Given the description of an element on the screen output the (x, y) to click on. 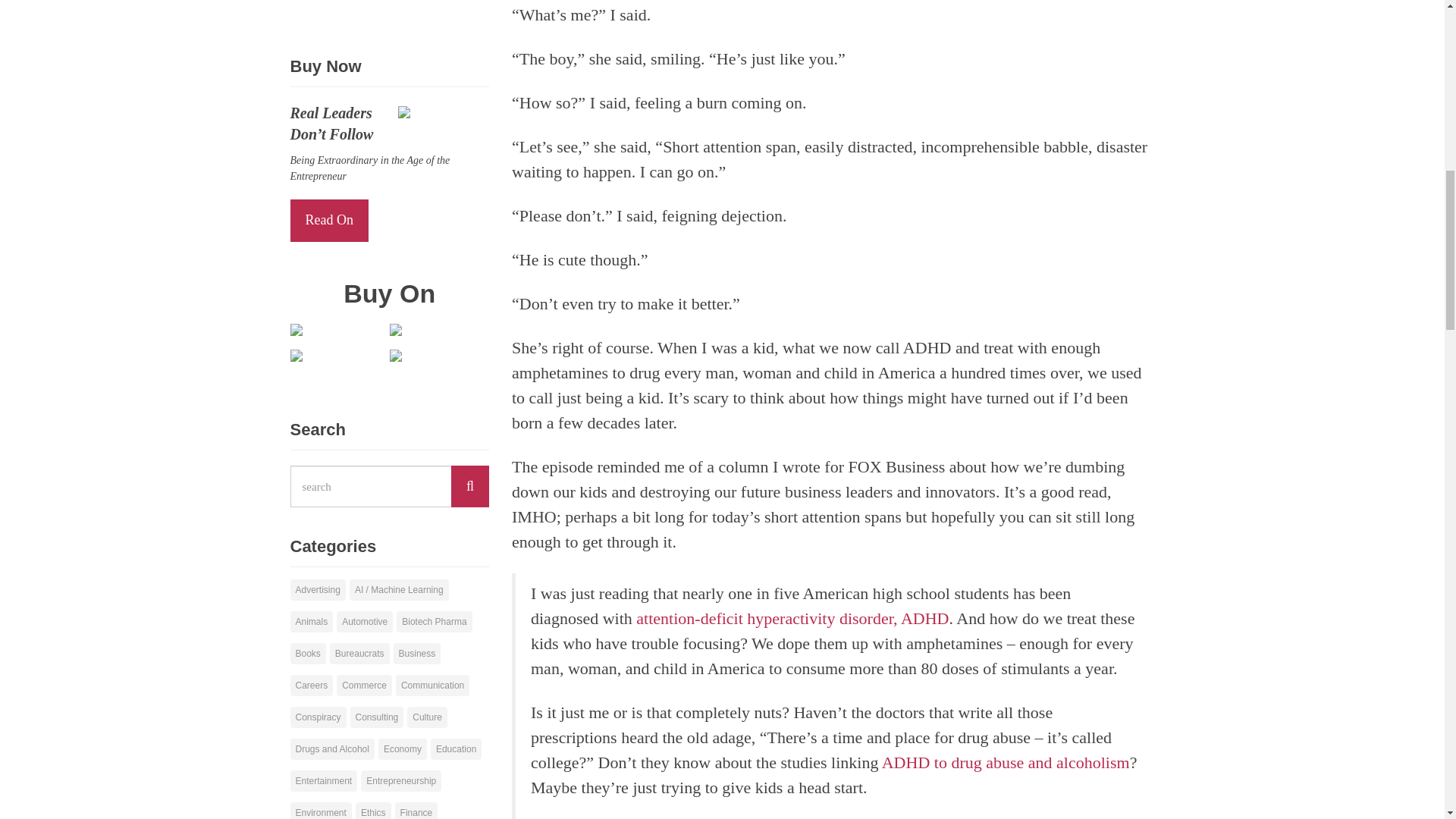
attention-deficit hyperactivity disorder, ADHD (792, 618)
Read On (328, 220)
ADHD to drug abuse and alcoholism (1005, 762)
